Given the description of an element on the screen output the (x, y) to click on. 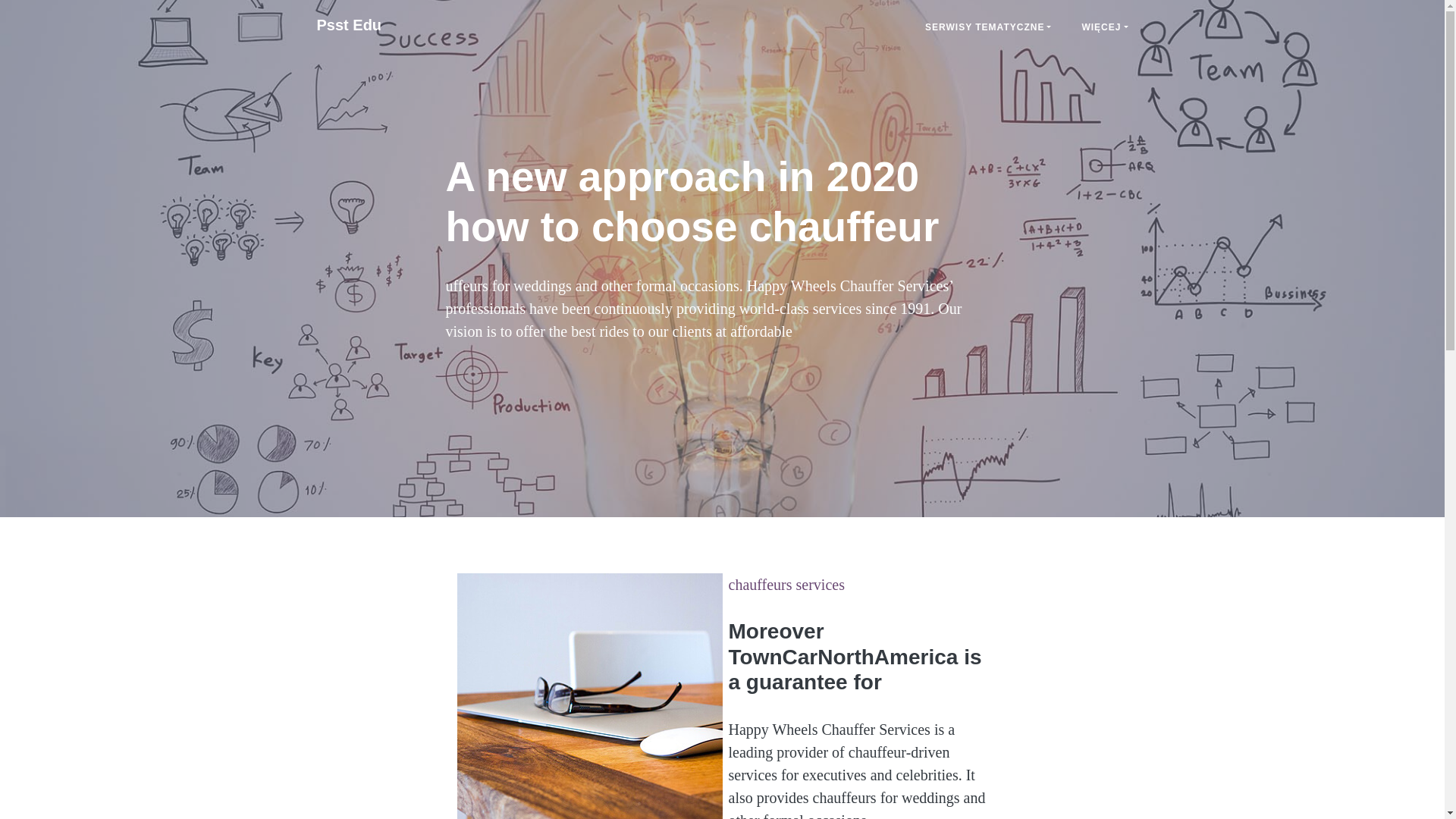
 A new approach in 2020 how to choose chauffeur  (349, 24)
Psst Edu (349, 24)
SERWISY TEMATYCZNE (987, 27)
